Given the description of an element on the screen output the (x, y) to click on. 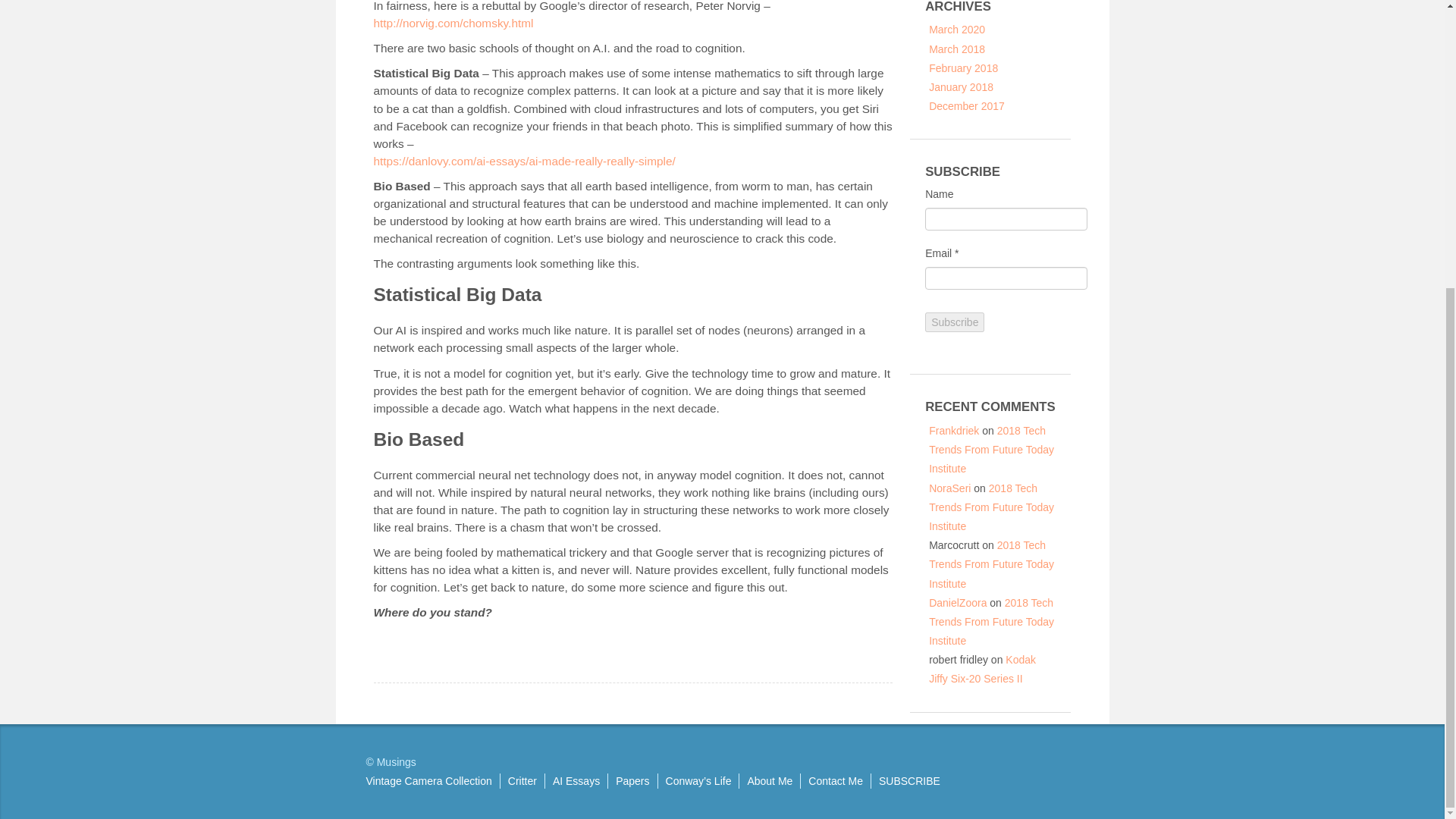
2018 Tech Trends From Future Today Institute (991, 450)
January 2018 (960, 87)
March 2018 (956, 49)
Frankdriek (953, 430)
February 2018 (962, 68)
December 2017 (966, 105)
DanielZoora (957, 603)
NoraSeri (949, 488)
Subscribe (954, 322)
March 2020 (956, 29)
